Given the description of an element on the screen output the (x, y) to click on. 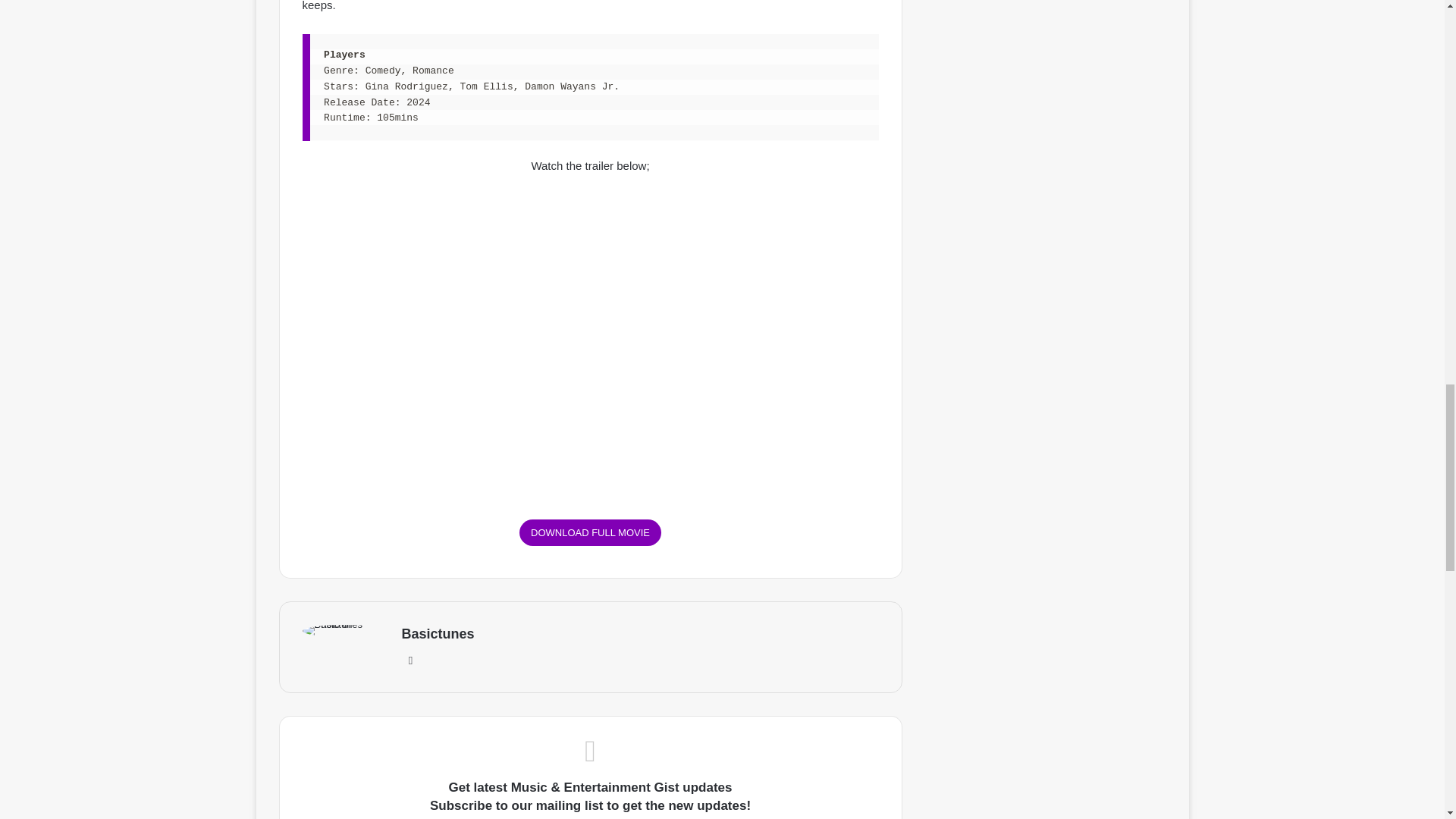
DOWNLOAD FULL MOVIE (590, 532)
Basictunes (437, 633)
Website (410, 660)
